Given the description of an element on the screen output the (x, y) to click on. 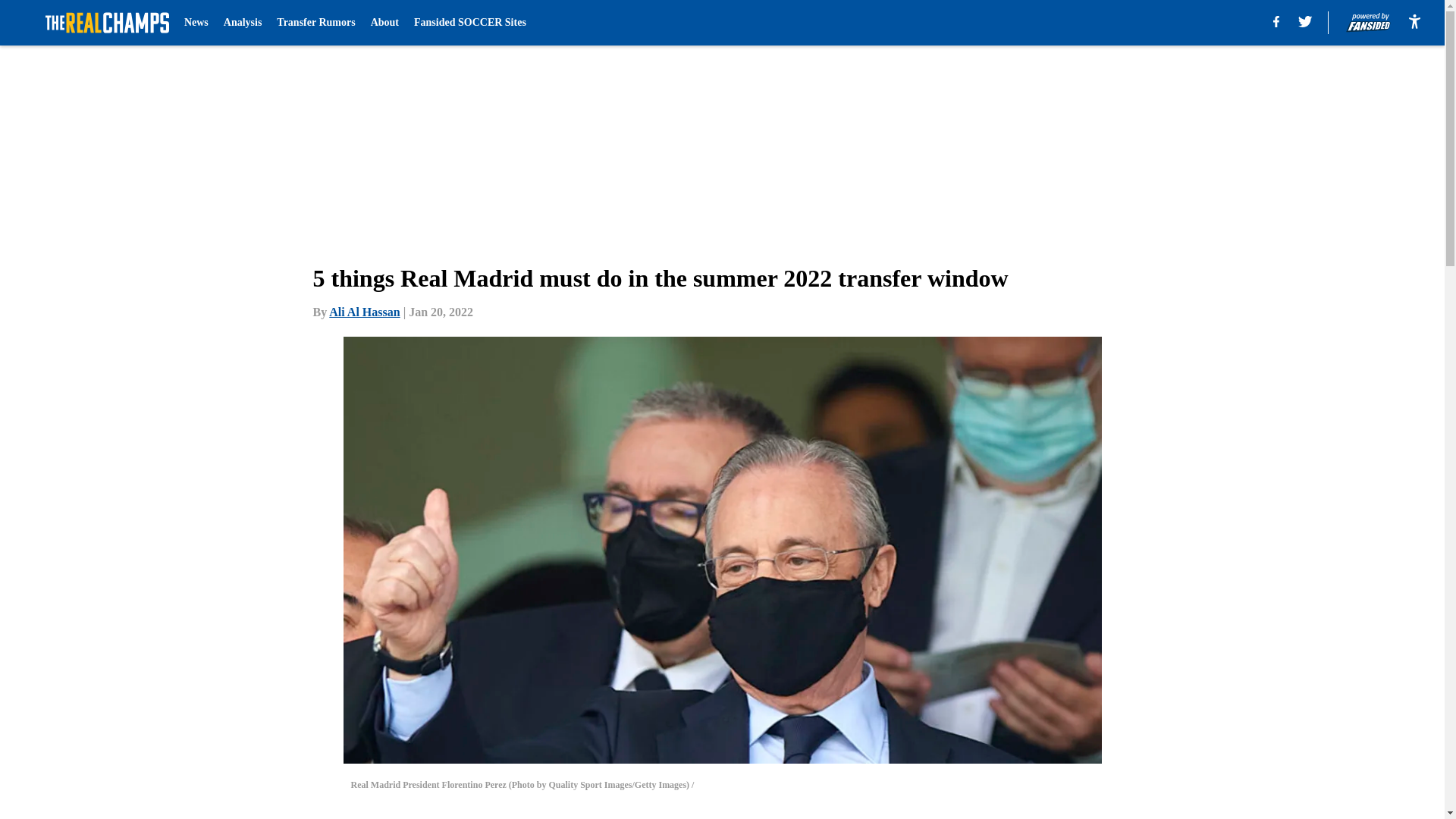
Analysis (243, 22)
Fansided SOCCER Sites (469, 22)
About (384, 22)
Transfer Rumors (315, 22)
News (196, 22)
Ali Al Hassan (363, 311)
